Given the description of an element on the screen output the (x, y) to click on. 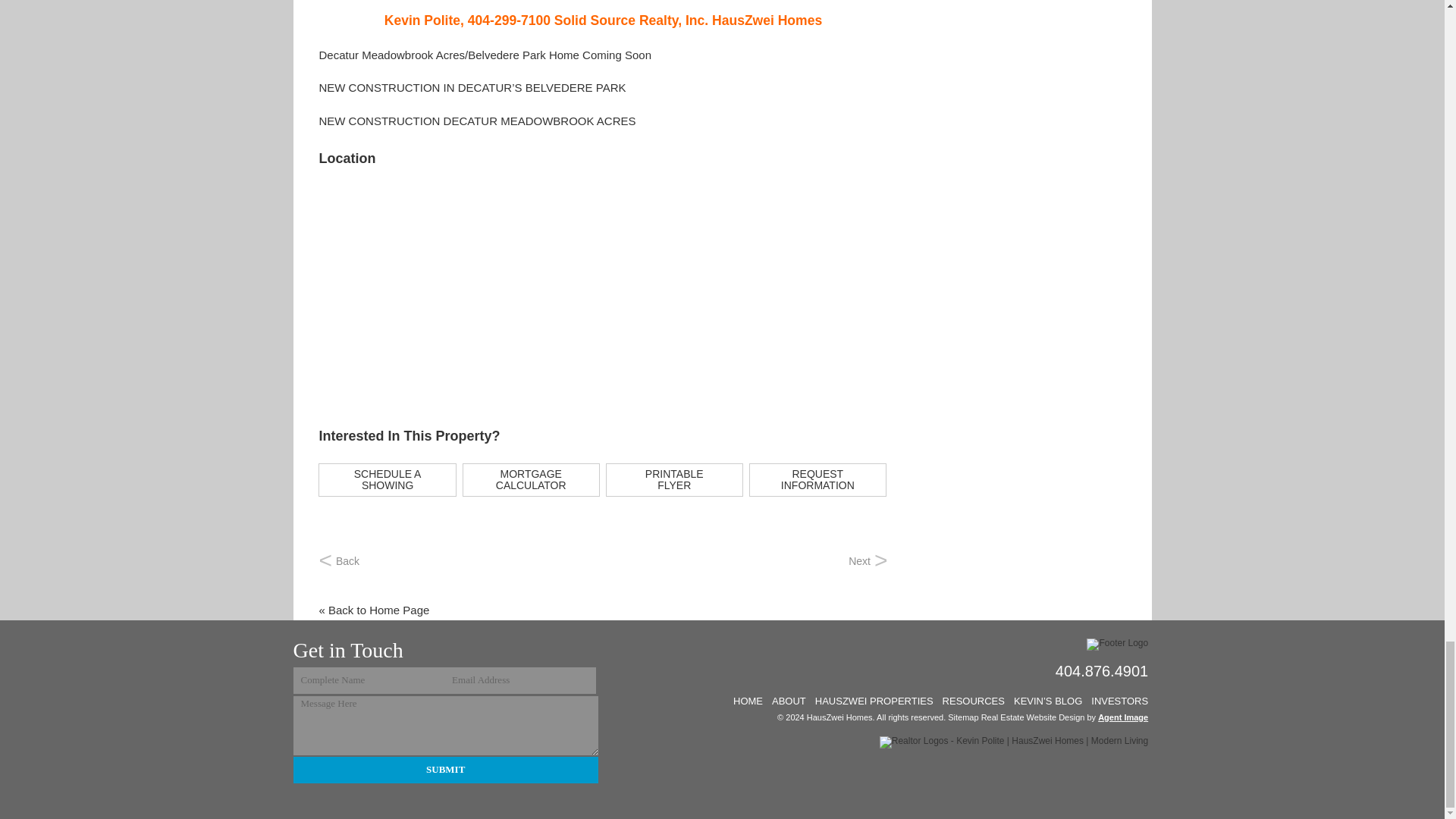
Schedule a Showing (386, 479)
Request Information (817, 479)
Submit (444, 769)
